Given the description of an element on the screen output the (x, y) to click on. 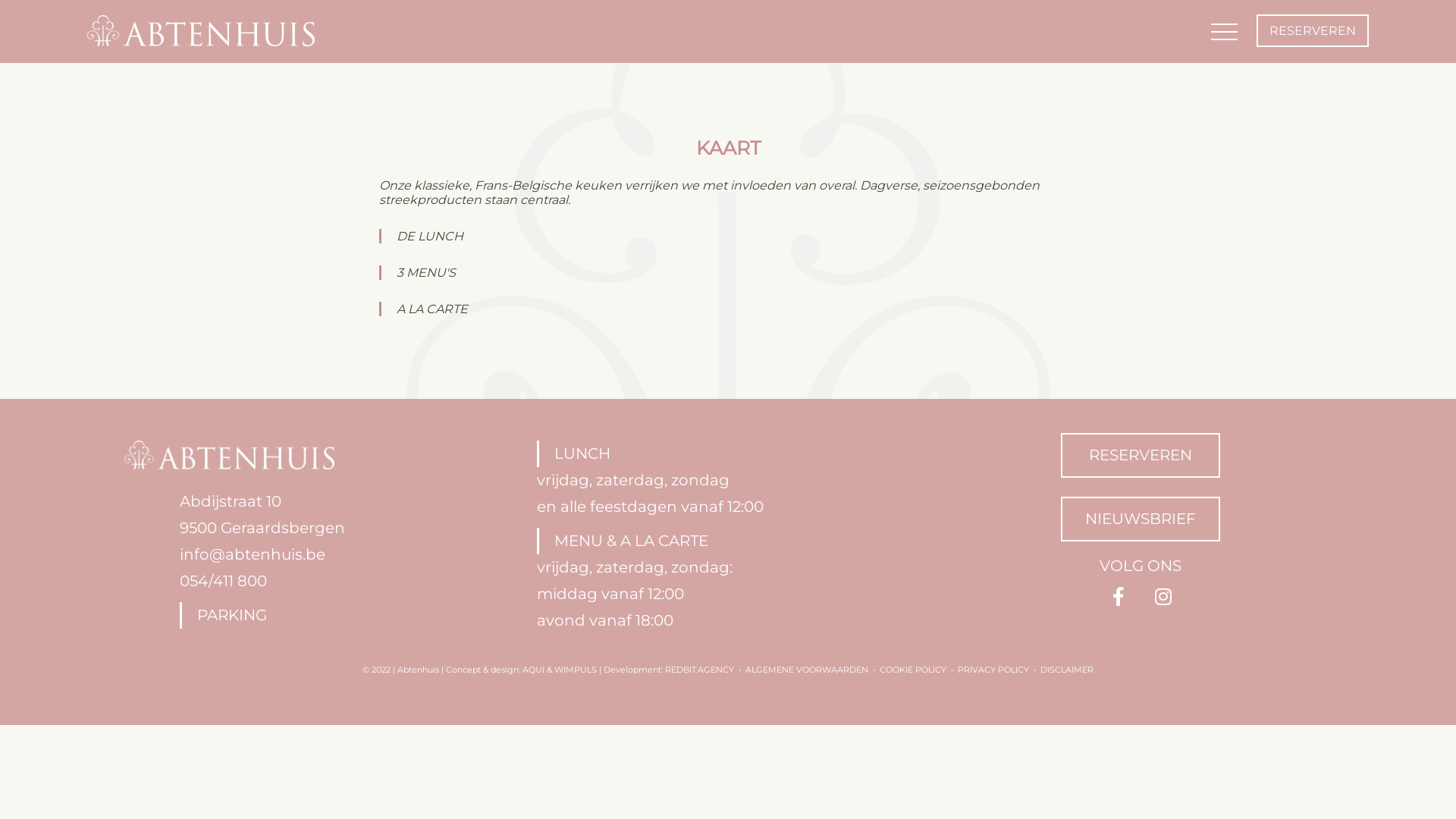
RESERVEREN Element type: text (1312, 30)
DE LUNCH Element type: text (727, 236)
COOKIE POLICY Element type: text (912, 669)
RESERVEREN Element type: text (1140, 455)
NIEUWSBRIEF Element type: text (1140, 518)
3 MENU'S Element type: text (727, 272)
DISCLAIMER Element type: text (1066, 669)
A LA CARTE Element type: text (727, 308)
ALGEMENE VOORWAARDEN Element type: text (806, 669)
PARKING Element type: text (342, 615)
PRIVACY POLICY Element type: text (993, 669)
LUNCH Element type: text (727, 453)
MENU & A LA CARTE Element type: text (727, 540)
REDBIT.AGENCY Element type: text (699, 669)
AQUI & WIMPULS Element type: text (559, 669)
